Given the description of an element on the screen output the (x, y) to click on. 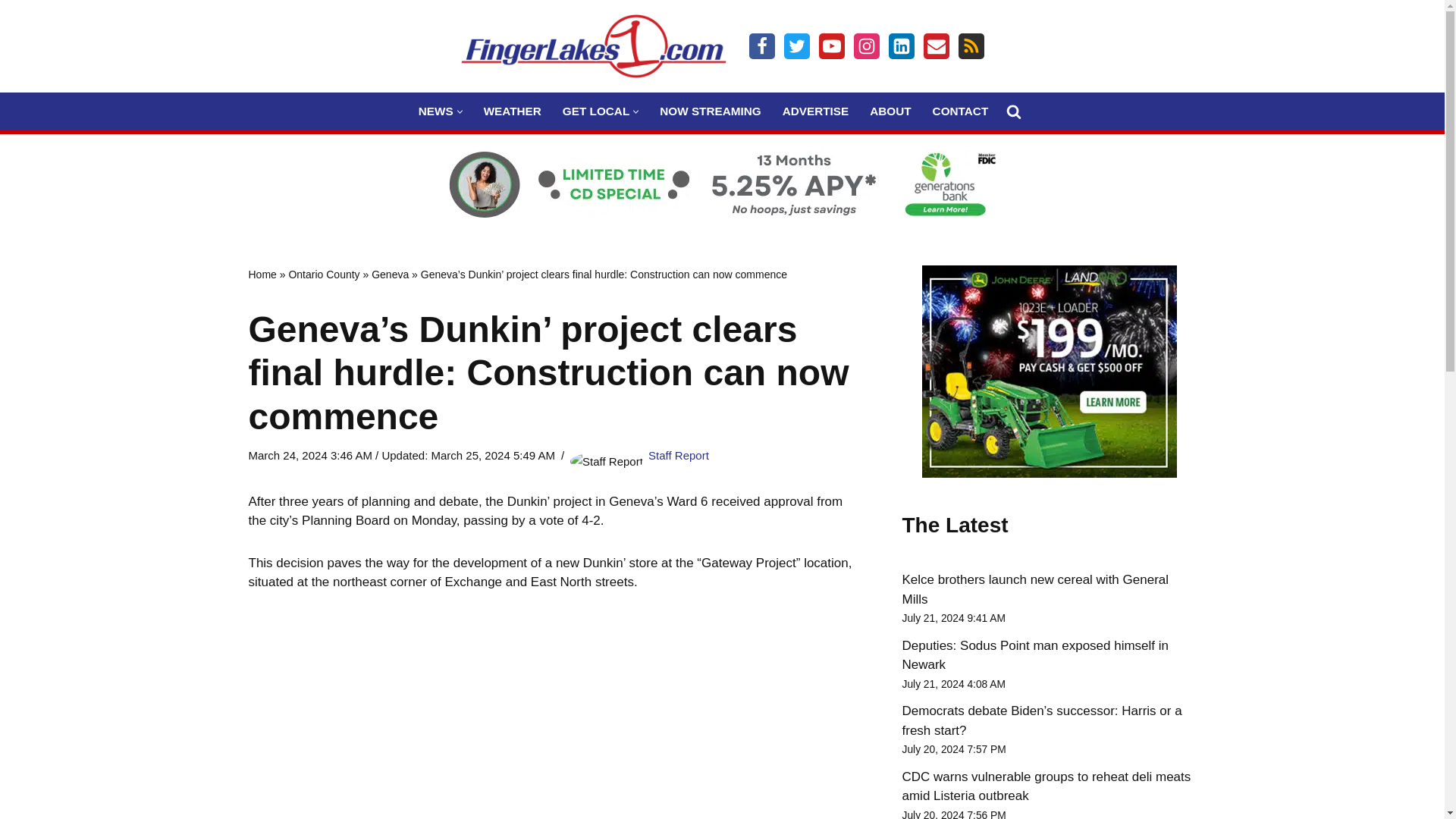
ADVERTISE (815, 111)
Posts by Staff Report (678, 454)
Feed (971, 45)
CONTACT (960, 111)
Youtube (831, 45)
GET LOCAL (595, 111)
Skip to content (11, 31)
NEWS (435, 111)
Twitter (796, 45)
ABOUT (890, 111)
NOW STREAMING (709, 111)
LinkIn (901, 45)
WEATHER (512, 111)
Facebook (761, 45)
Email Us (936, 45)
